Given the description of an element on the screen output the (x, y) to click on. 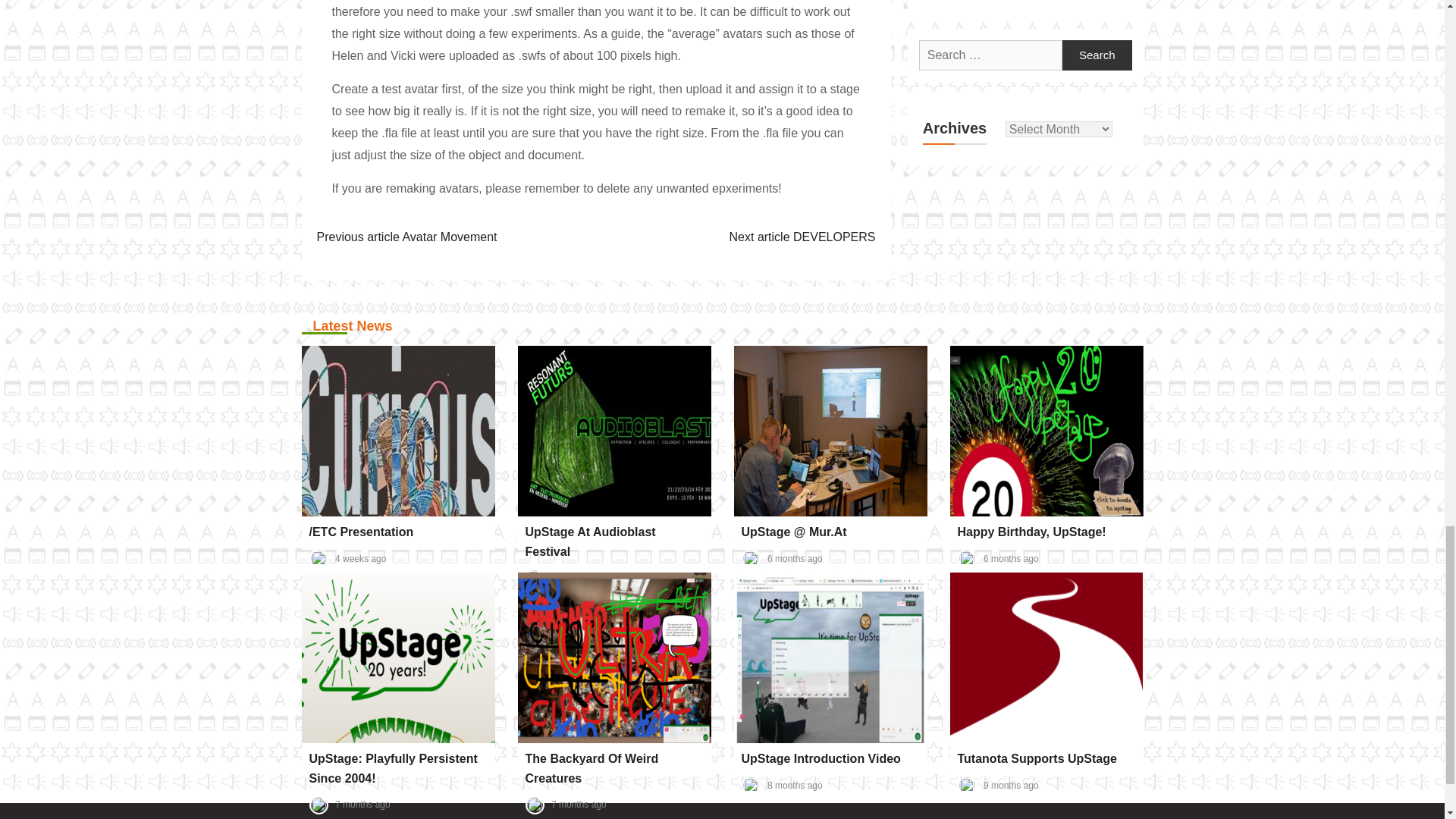
Search (1097, 55)
Search (1097, 55)
